Given the description of an element on the screen output the (x, y) to click on. 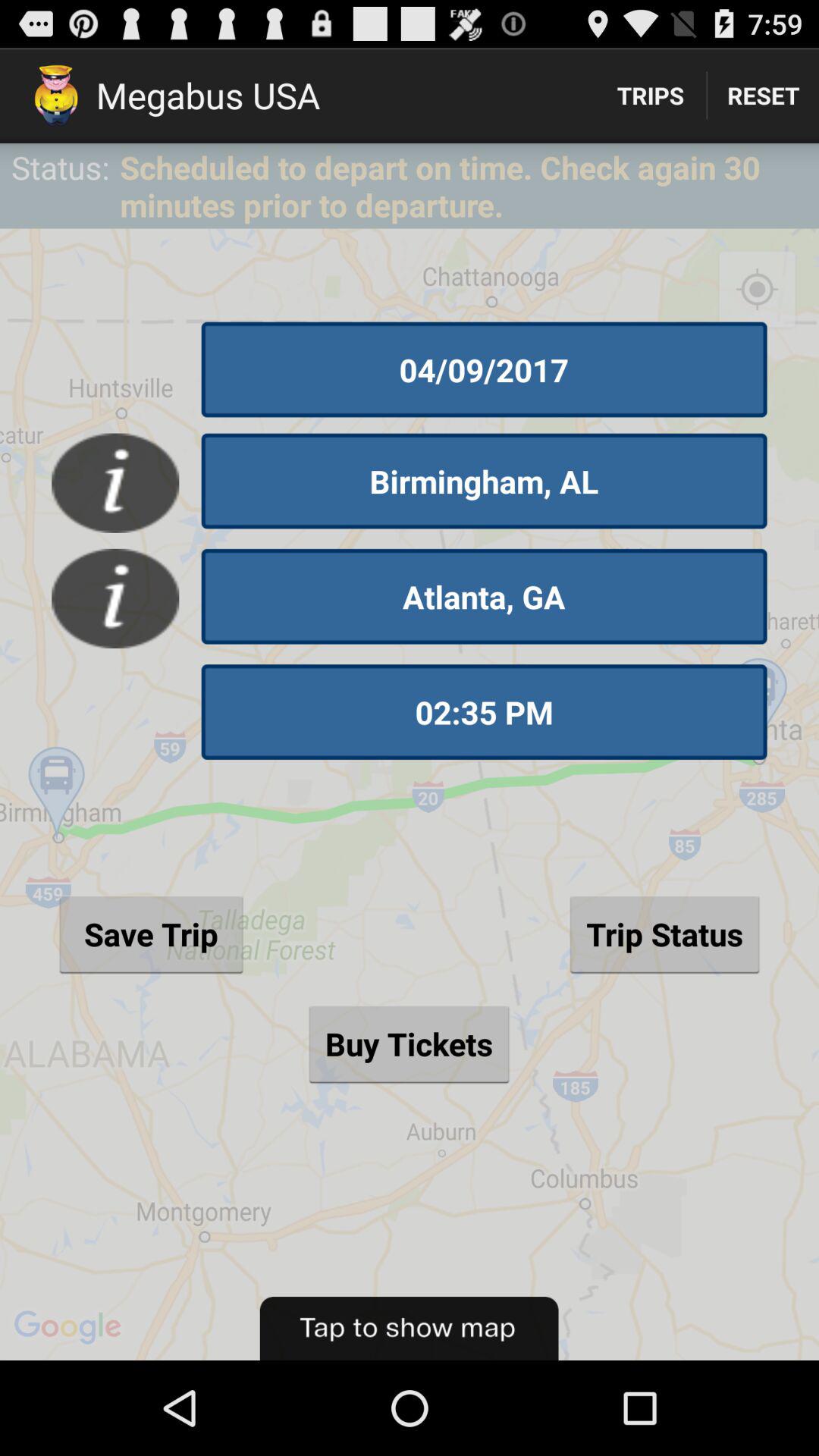
tap trip status item (664, 934)
